Given the description of an element on the screen output the (x, y) to click on. 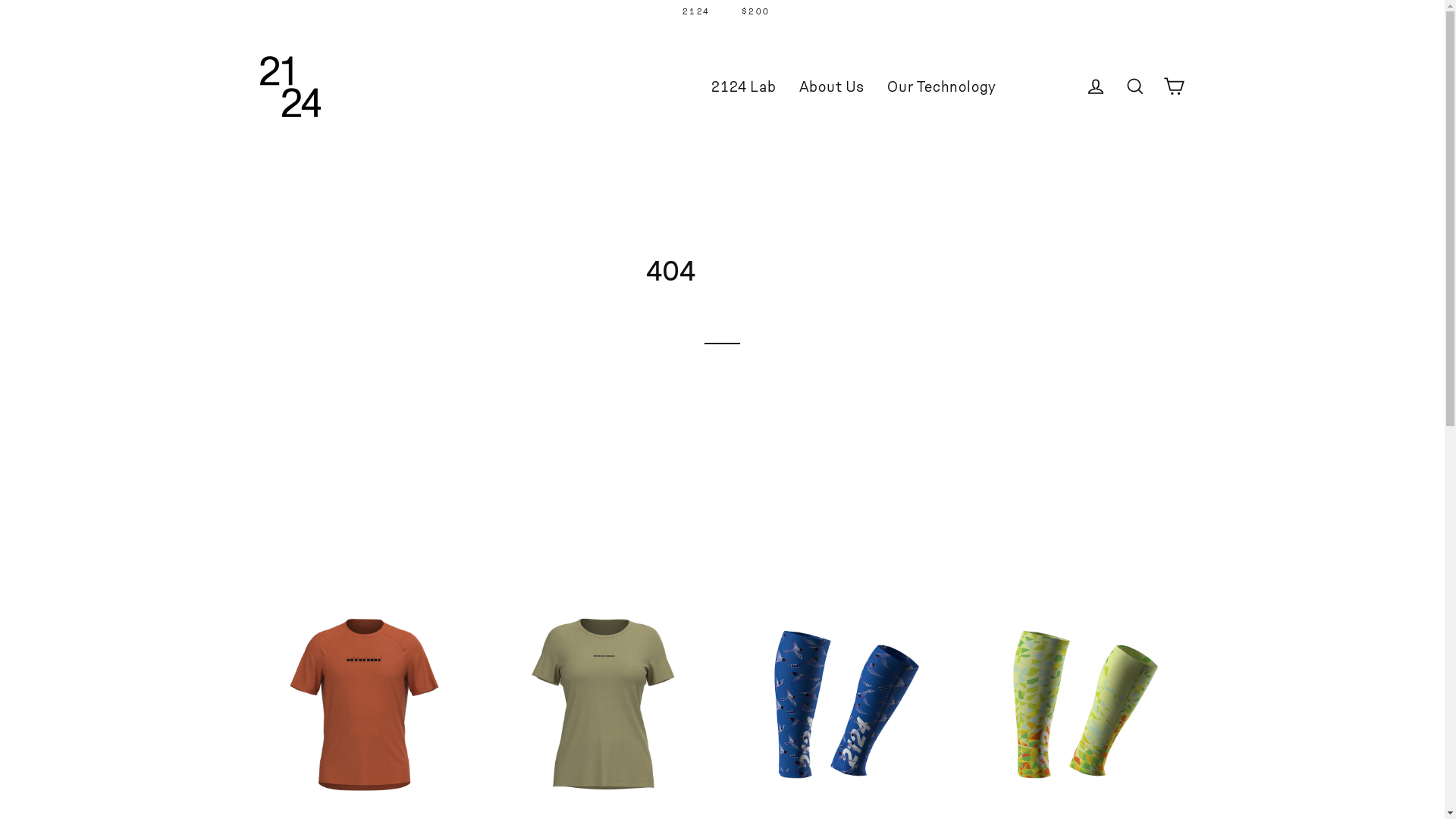
About Us Element type: text (831, 86)
2124 Lab Element type: text (743, 86)
Our Technology Element type: text (941, 86)
